Given the description of an element on the screen output the (x, y) to click on. 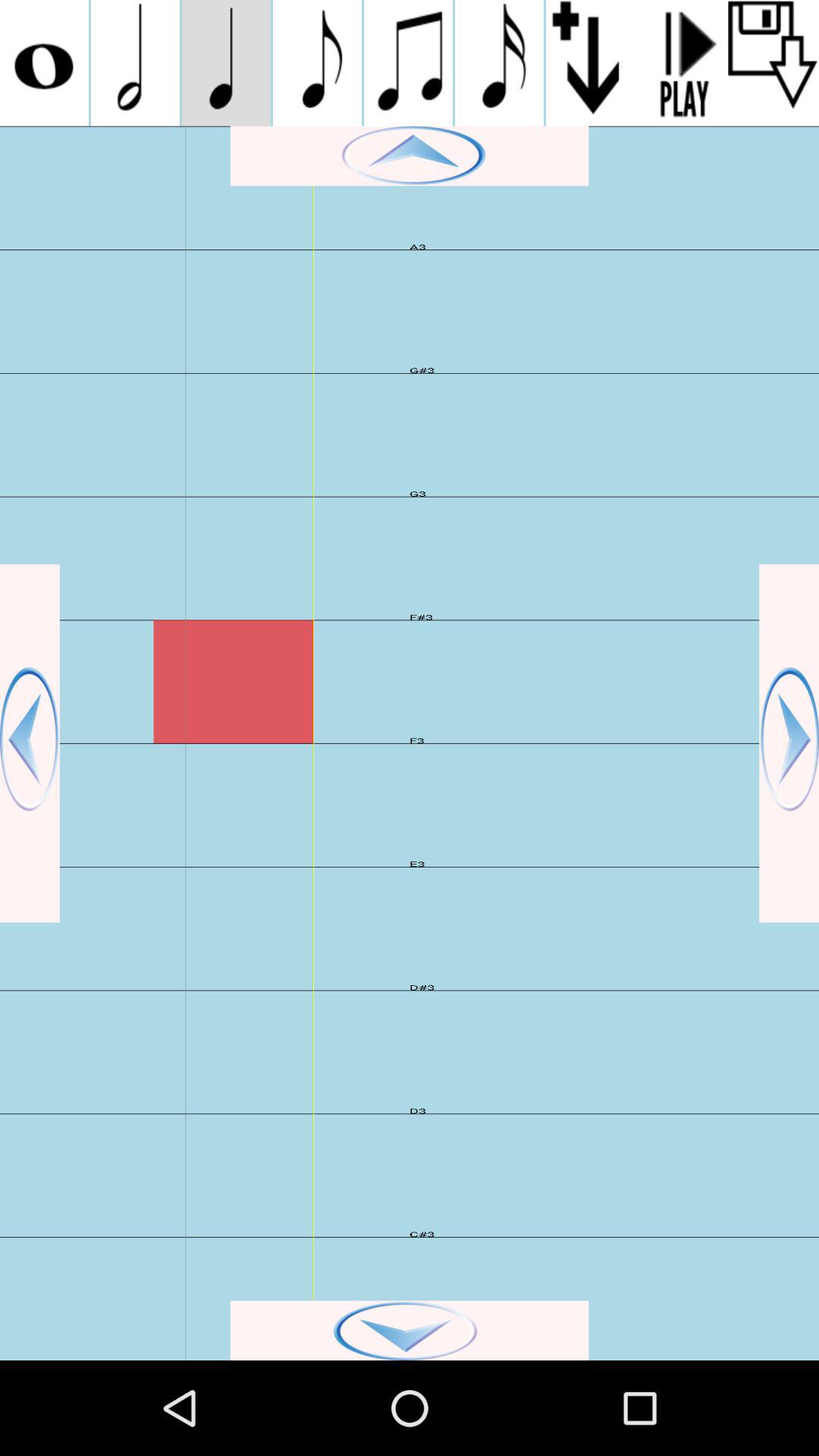
select note (44, 63)
